Given the description of an element on the screen output the (x, y) to click on. 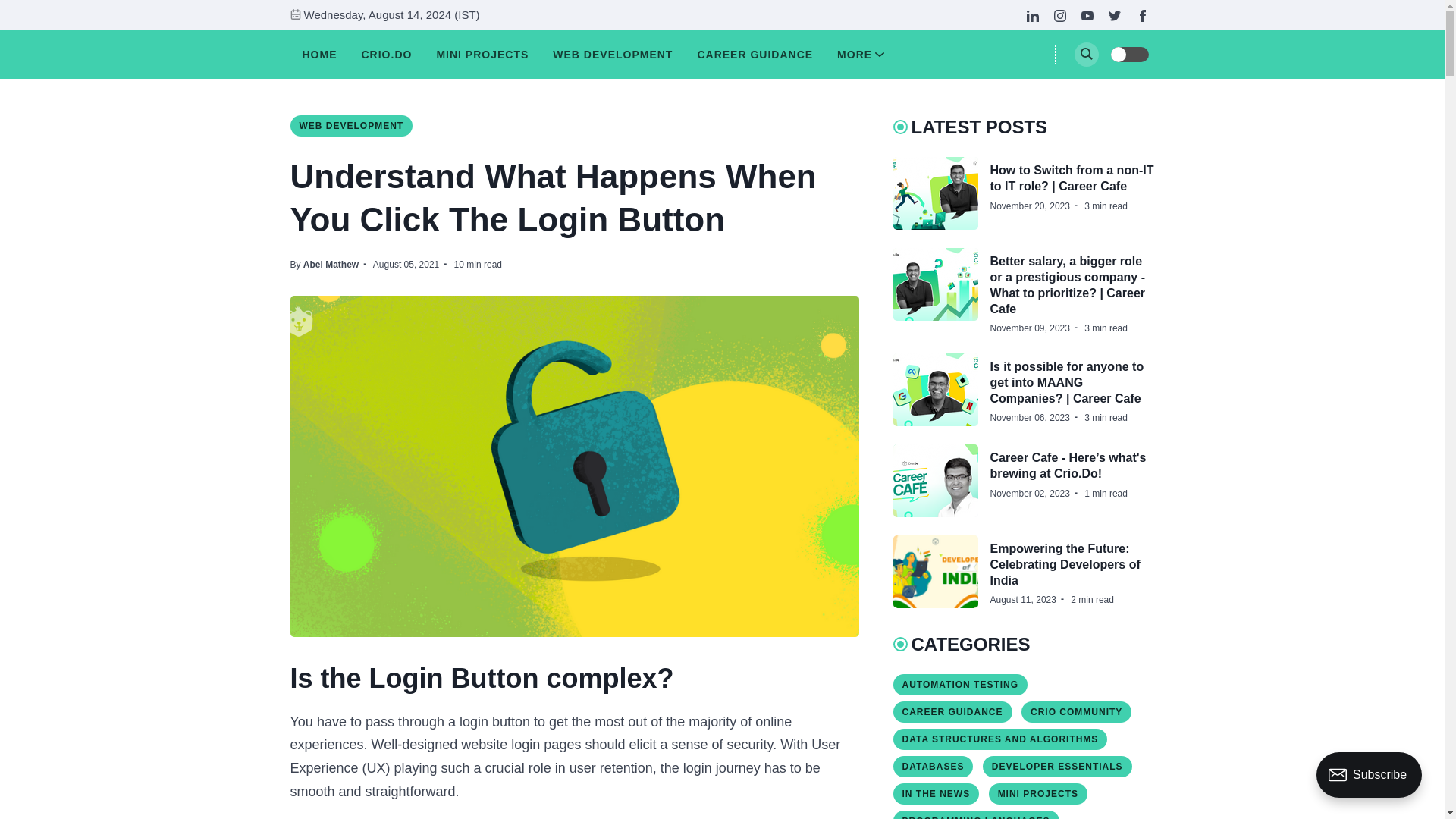
HOME (318, 54)
WEB DEVELOPMENT (612, 54)
MINI PROJECTS (481, 54)
WEB DEVELOPMENT (350, 125)
MORE (860, 54)
CAREER GUIDANCE (754, 54)
CRIO.DO (386, 54)
Abel Mathew (330, 264)
